Given the description of an element on the screen output the (x, y) to click on. 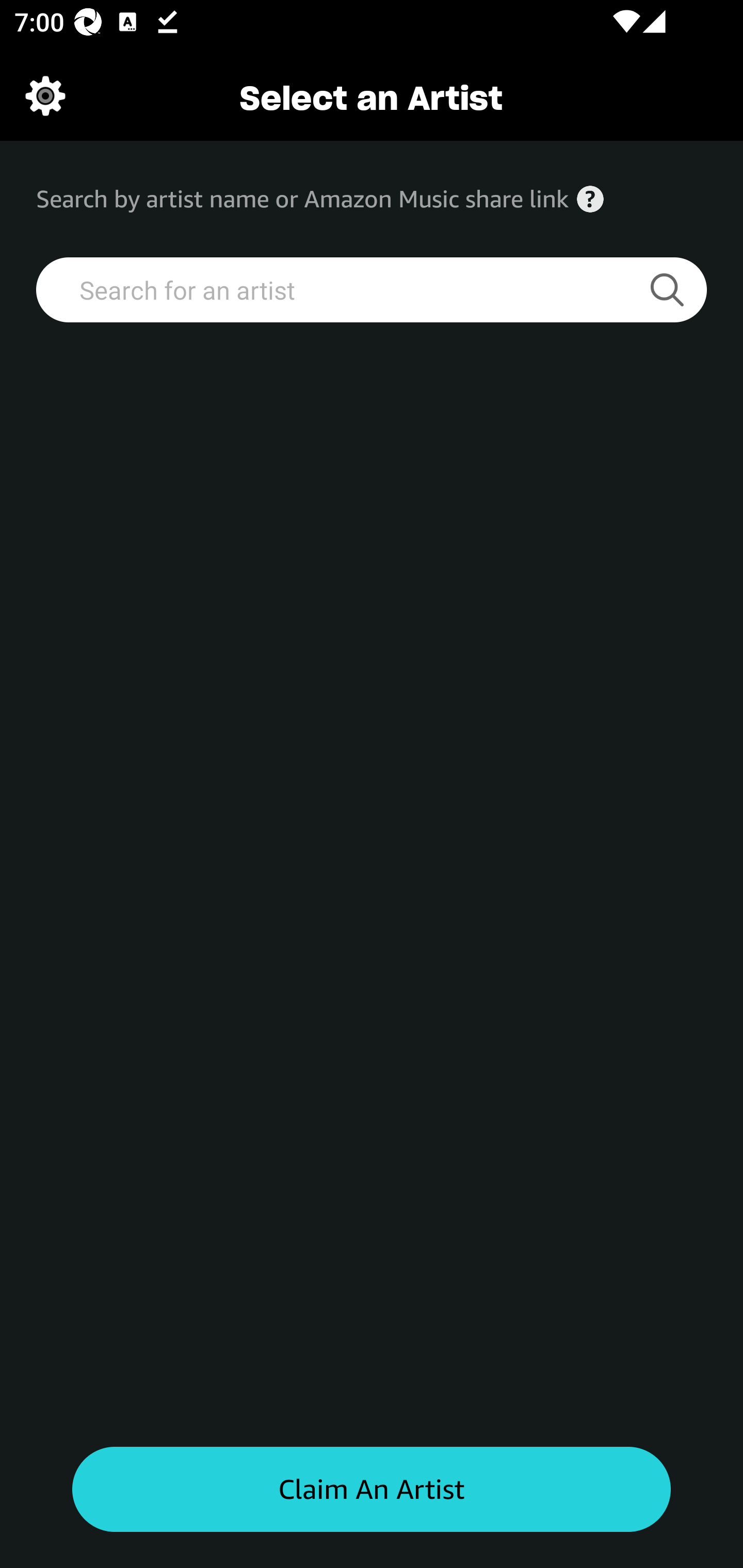
Help  icon (589, 199)
Claim an artist button Claim An Artist (371, 1489)
